Given the description of an element on the screen output the (x, y) to click on. 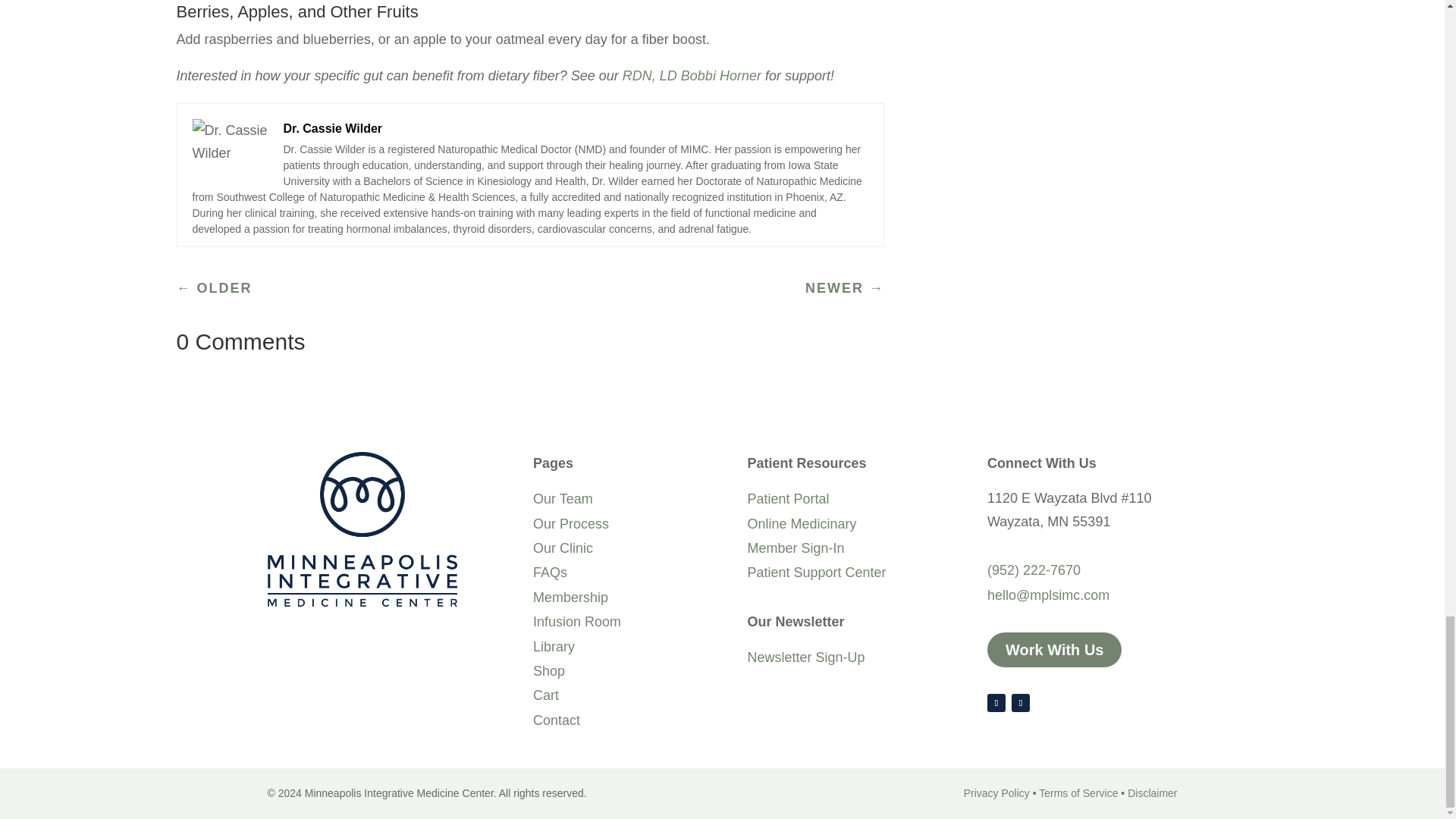
Dr. Cassie Wilder (332, 127)
RDN, LD Bobbi Horner (692, 75)
Follow on Instagram (1020, 702)
Follow on Facebook (996, 702)
